Given the description of an element on the screen output the (x, y) to click on. 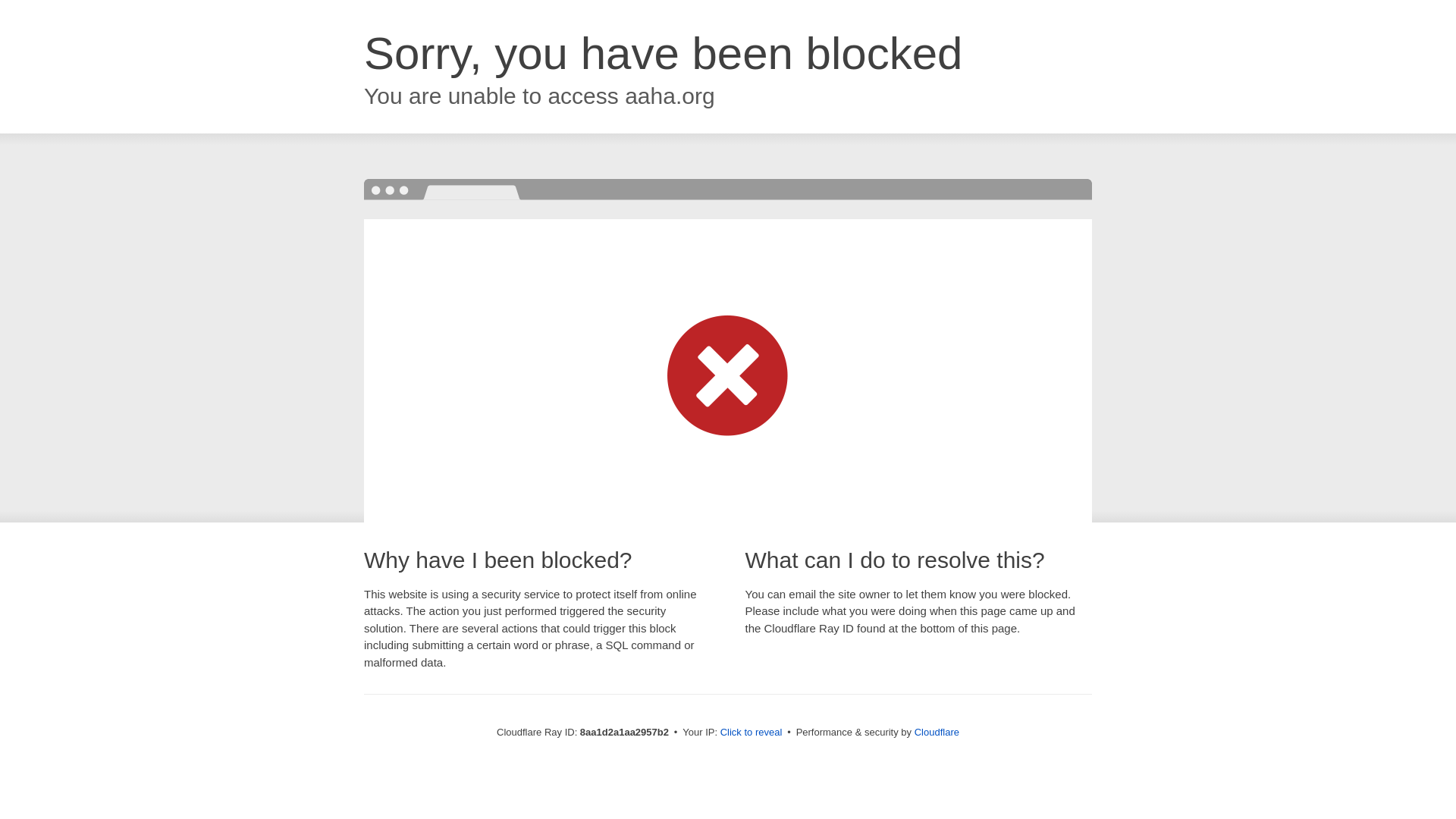
Click to reveal (751, 732)
Cloudflare (936, 731)
